Given the description of an element on the screen output the (x, y) to click on. 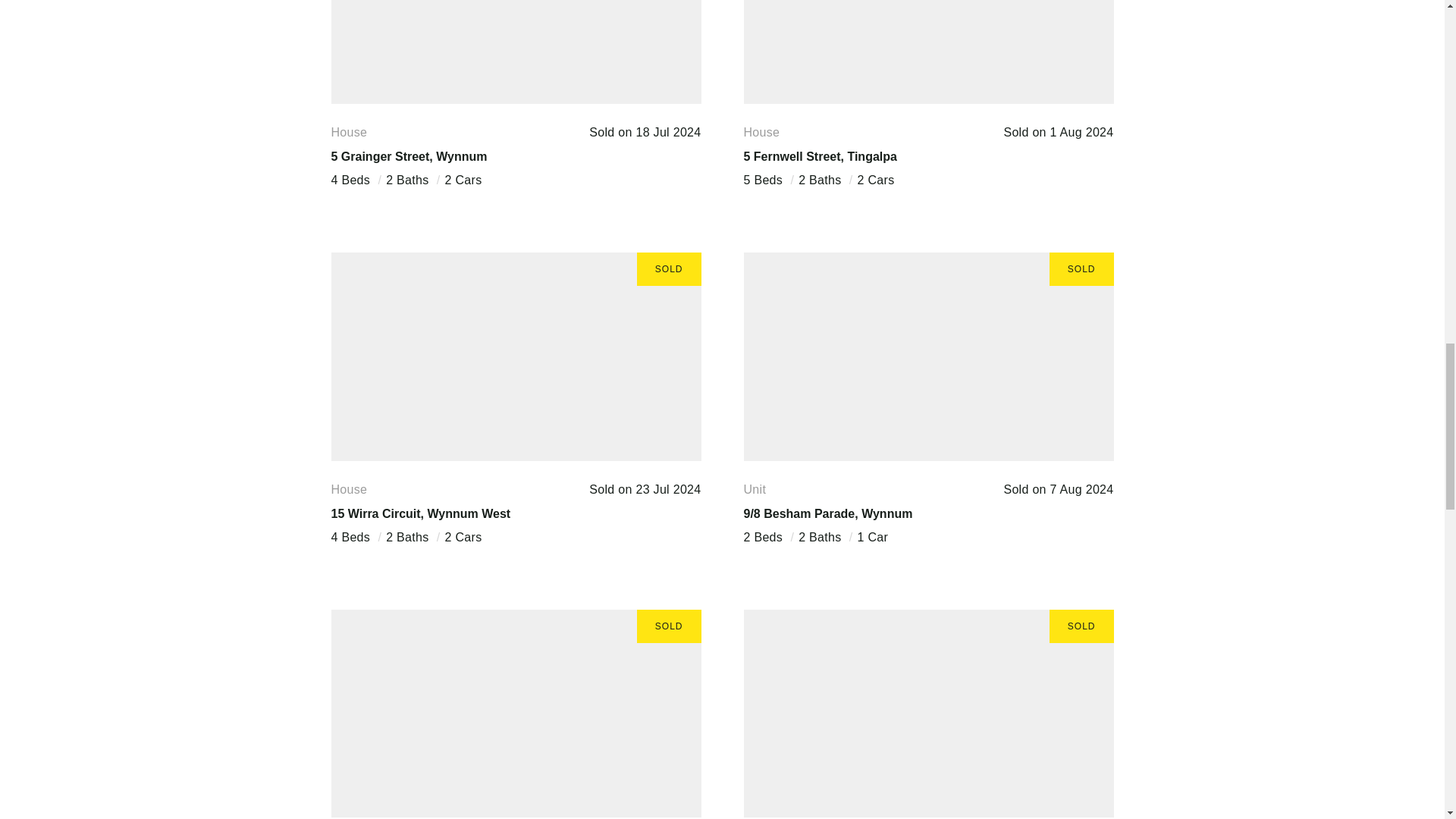
SOLD (515, 356)
5 Grainger Street, Wynnum (408, 155)
15 Wirra Circuit, Wynnum West (420, 512)
SOLD (927, 356)
SOLD (927, 52)
SOLD (515, 713)
SOLD (515, 52)
SOLD (927, 713)
5 Fernwell Street, Tingalpa (819, 155)
